Given the description of an element on the screen output the (x, y) to click on. 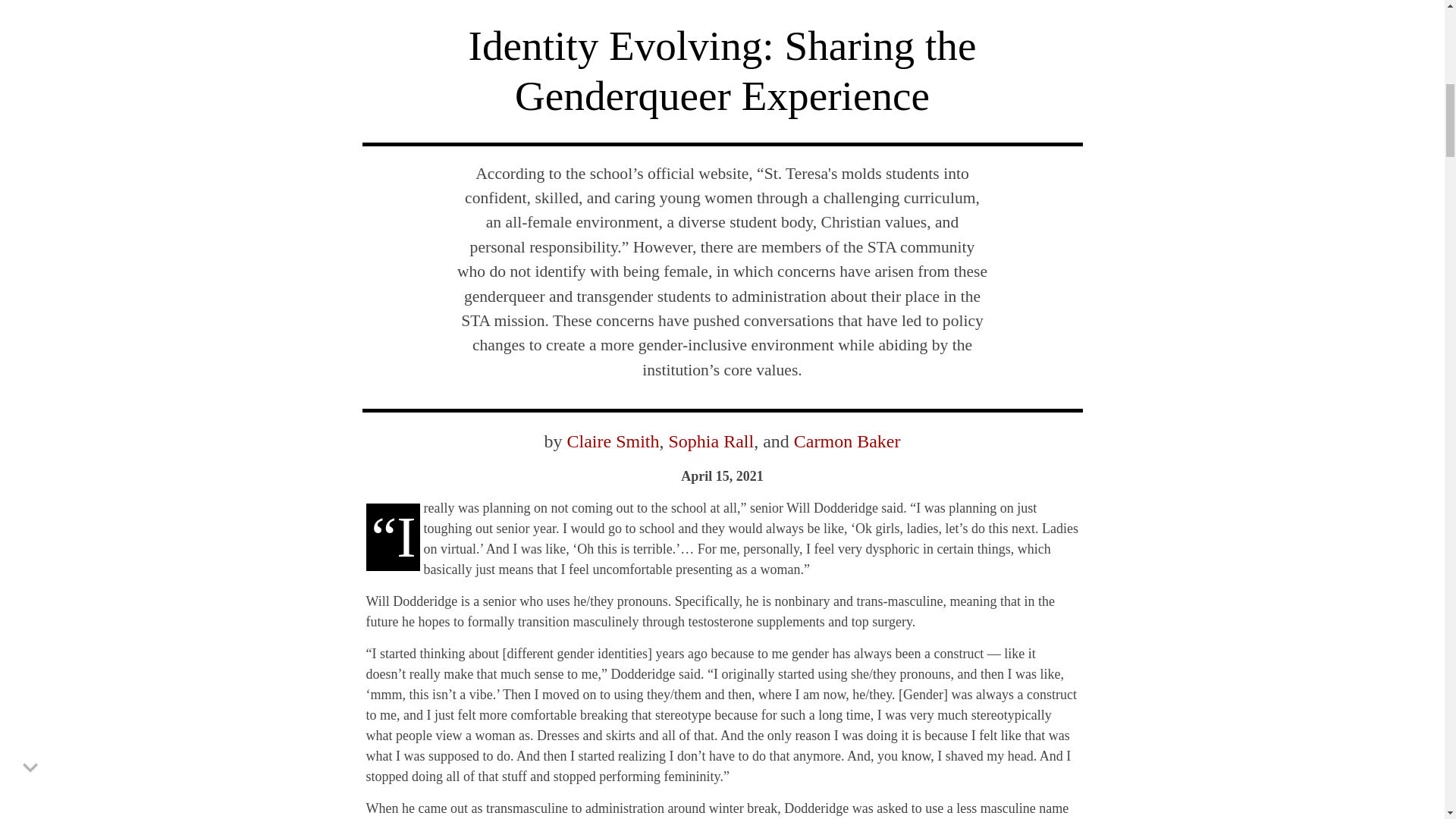
Carmon Baker (847, 441)
Claire Smith (613, 441)
Sophia Rall (711, 441)
